Given the description of an element on the screen output the (x, y) to click on. 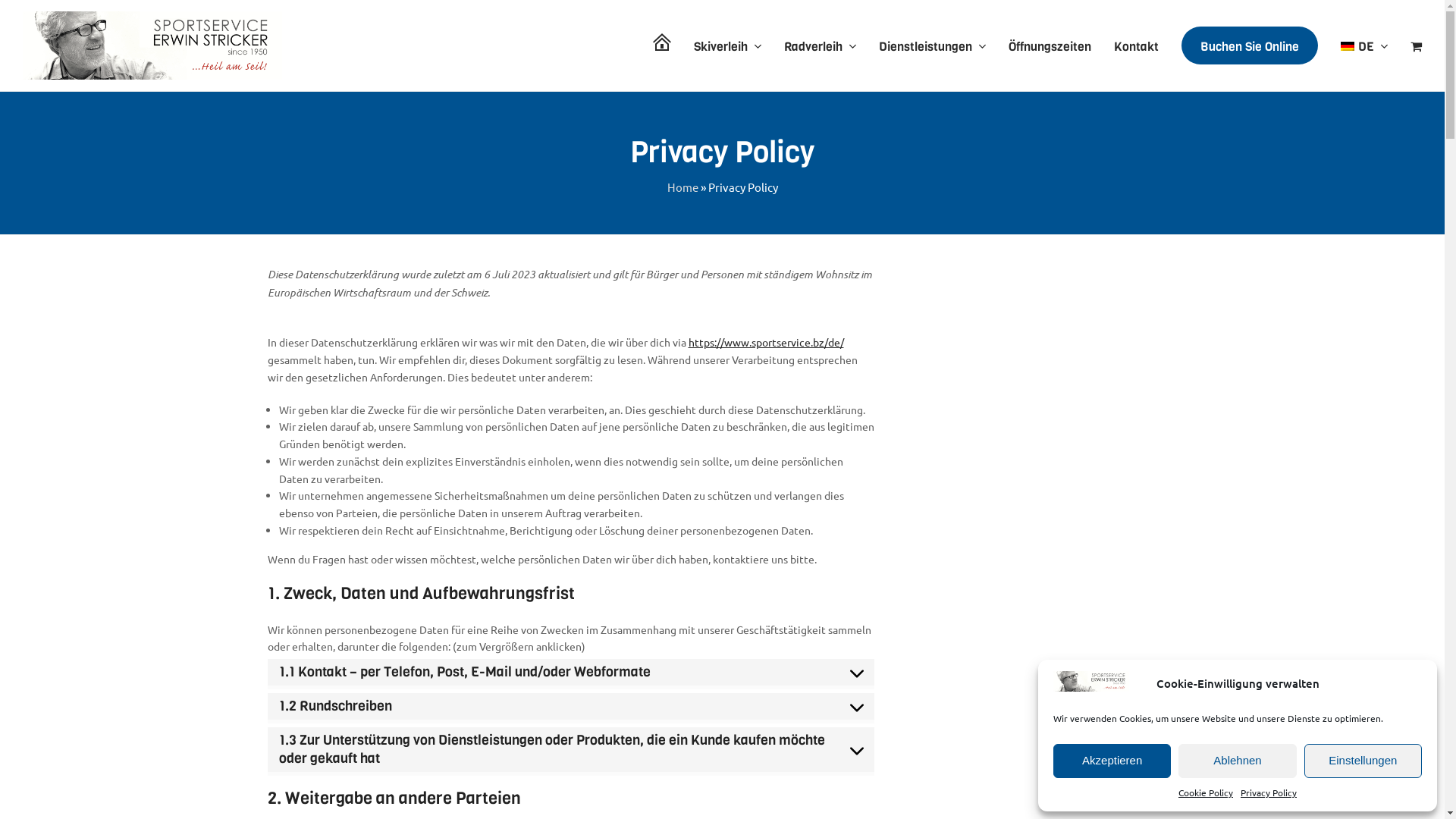
Radverleih Element type: text (820, 45)
DE Element type: text (1363, 45)
Kontakt Element type: text (1135, 45)
Privacy Policy Element type: text (1268, 792)
Home Element type: text (682, 186)
Ablehnen Element type: text (1236, 760)
Einstellungen Element type: text (1362, 760)
Akzeptieren Element type: text (1111, 760)
Skiverleih Element type: text (727, 45)
Dienstleistungen Element type: text (931, 45)
Buchen Sie Online Element type: text (1249, 45)
https://www.sportservice.bz/de/ Element type: text (766, 341)
Cookie Policy Element type: text (1205, 792)
